Given the description of an element on the screen output the (x, y) to click on. 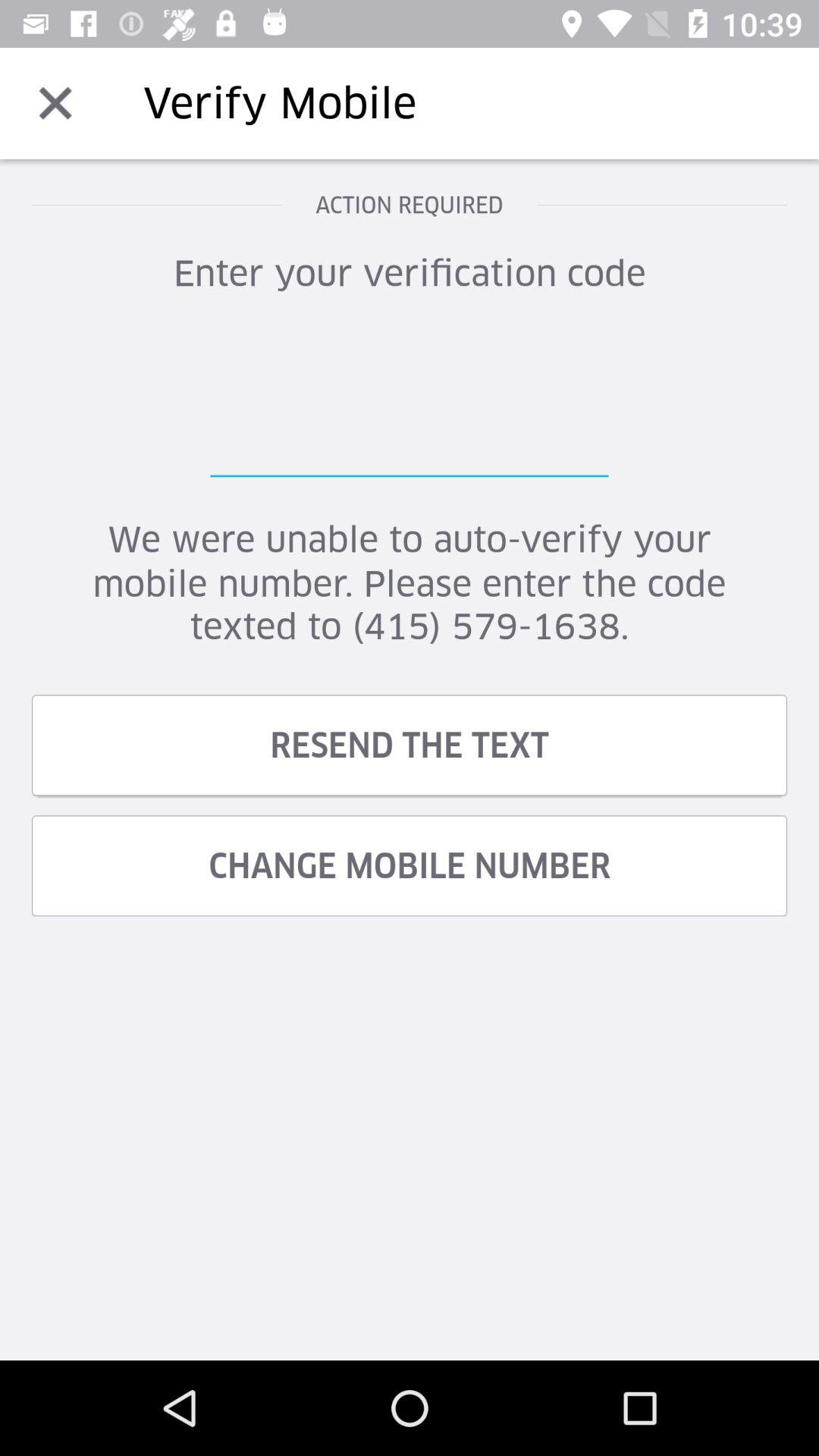
turn on the item above the change mobile number item (409, 745)
